Given the description of an element on the screen output the (x, y) to click on. 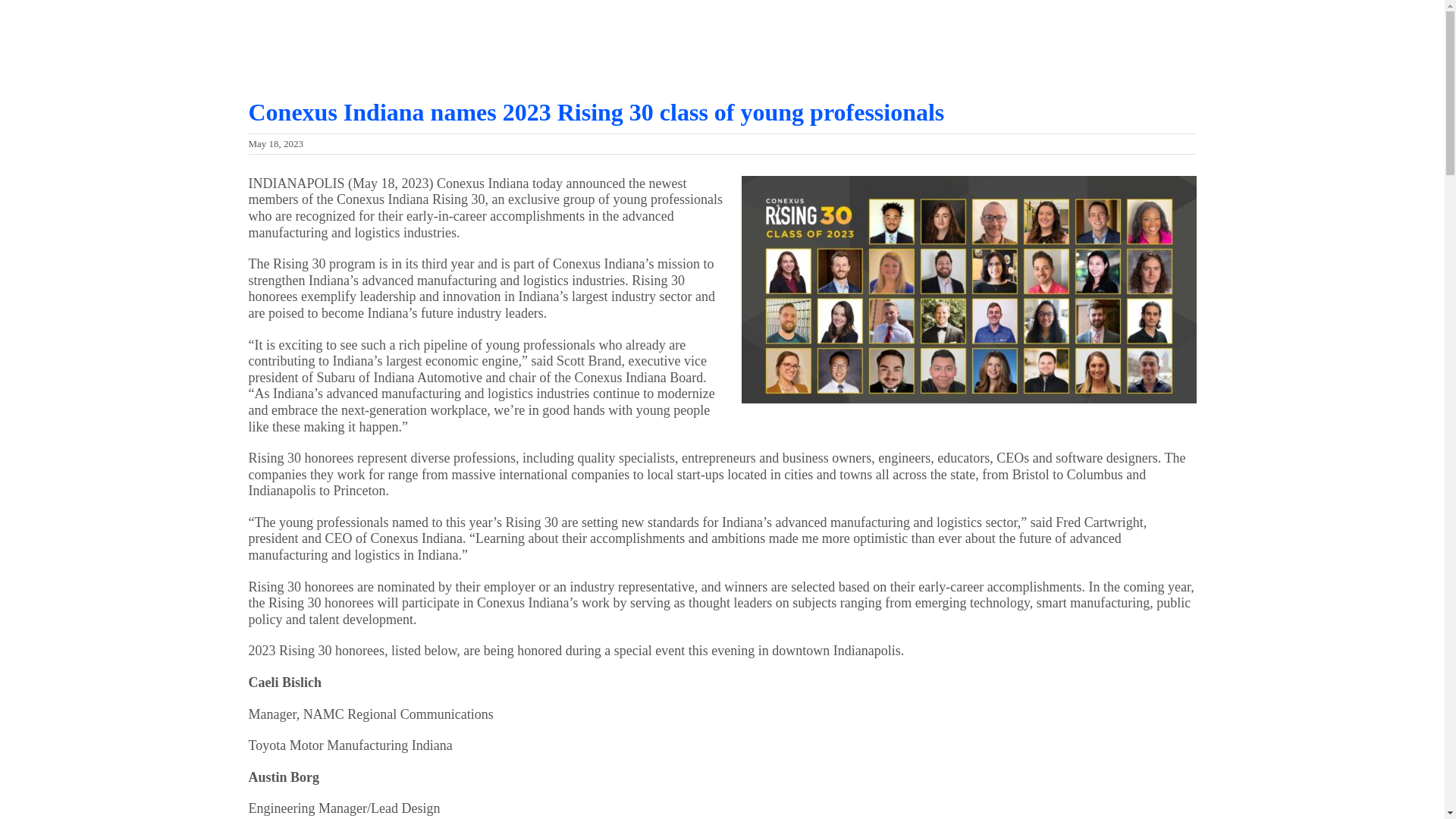
CICP PROJECTS (864, 28)
SEE YOURSELF IN (1102, 28)
REPORTS (937, 28)
INITIATIVES (784, 28)
